Given the description of an element on the screen output the (x, y) to click on. 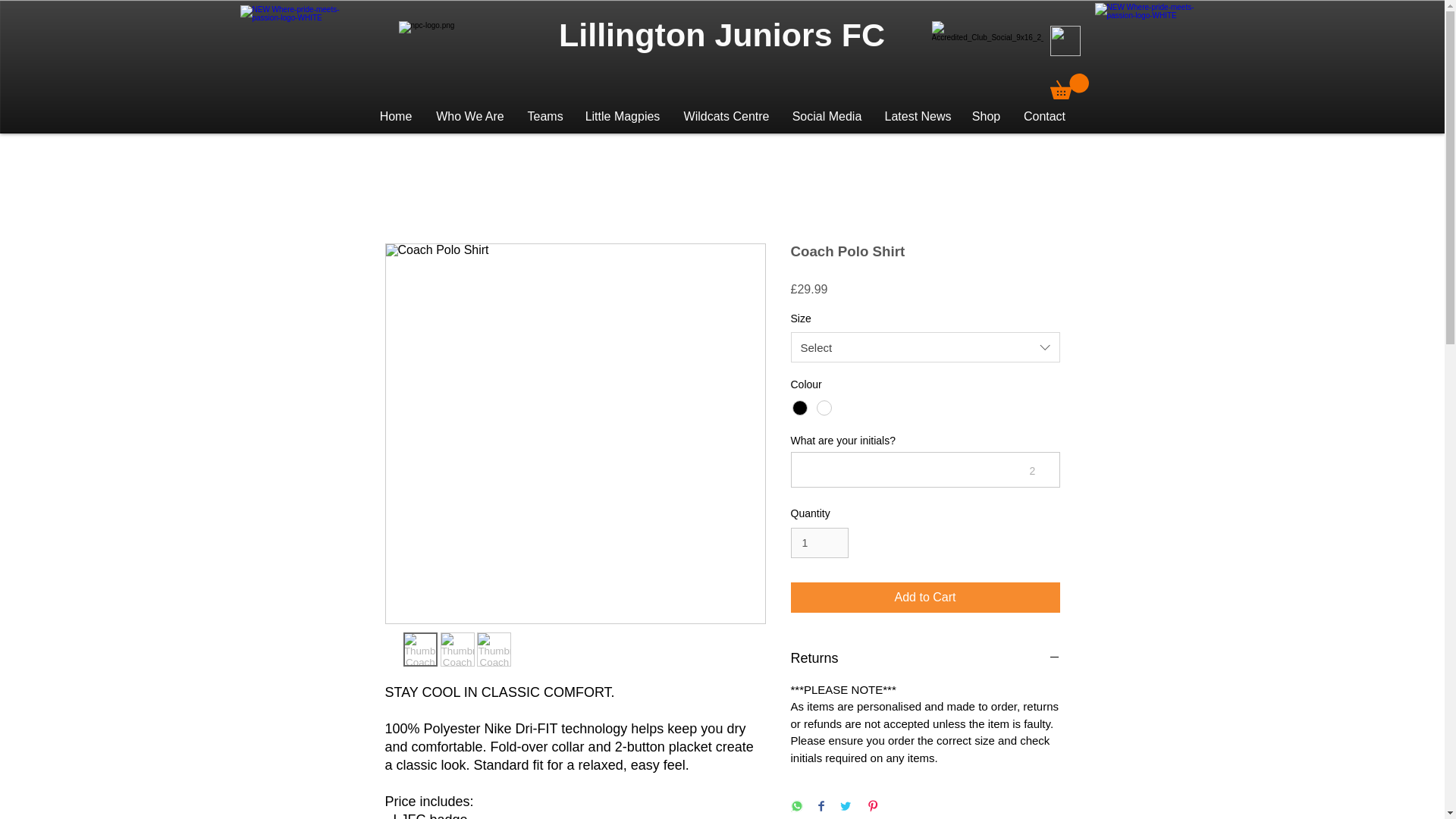
Latest News (916, 116)
Contact (1044, 116)
Add to Cart (924, 597)
Wildcats Centre (725, 116)
Returns (924, 658)
Little Magpies (622, 116)
Social Media (826, 116)
Select (924, 347)
Home (394, 116)
Who We Are (470, 116)
